Given the description of an element on the screen output the (x, y) to click on. 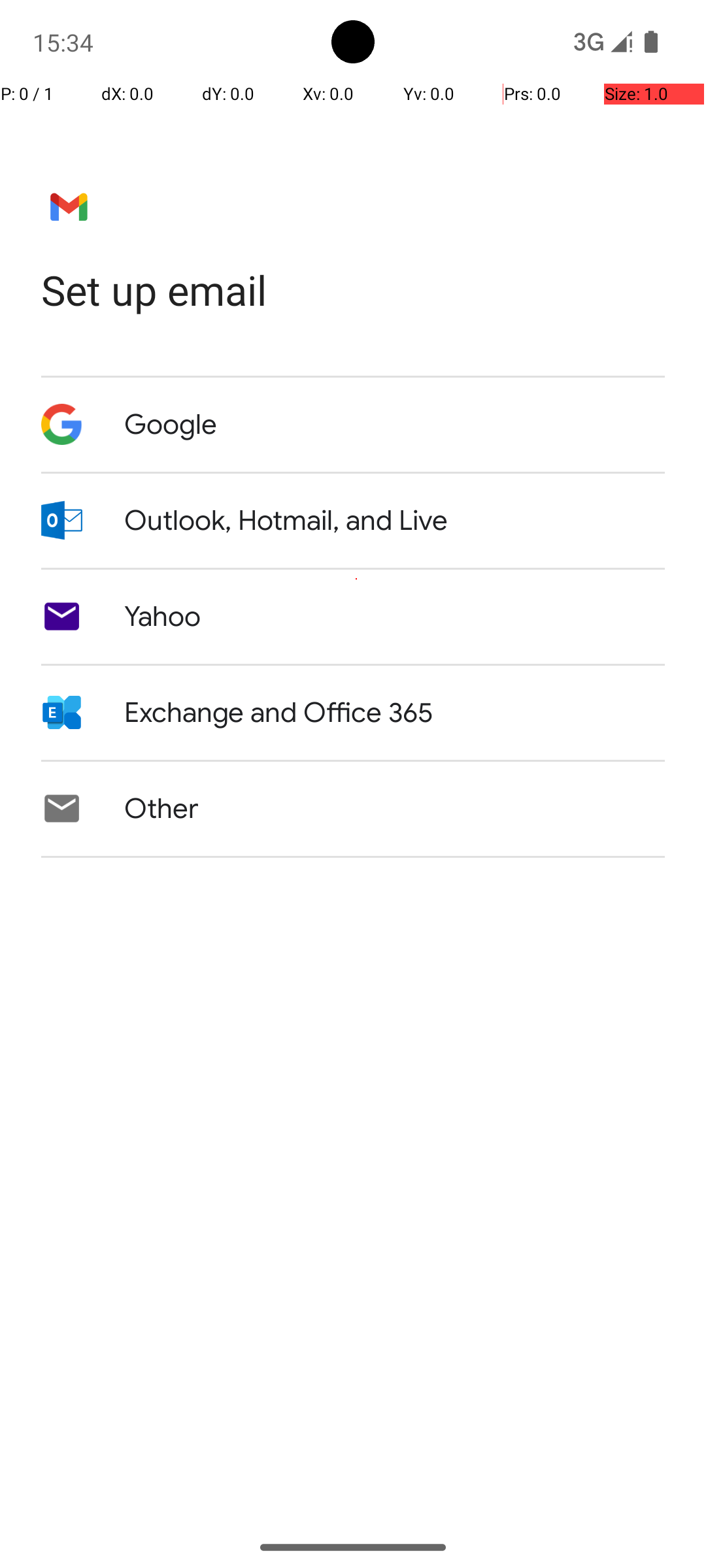
Set up email Element type: android.widget.TextView (352, 289)
Google Element type: android.widget.TextView (170, 424)
Outlook, Hotmail, and Live Element type: android.widget.TextView (286, 520)
Yahoo Element type: android.widget.TextView (162, 616)
Exchange and Office 365 Element type: android.widget.TextView (278, 712)
